Given the description of an element on the screen output the (x, y) to click on. 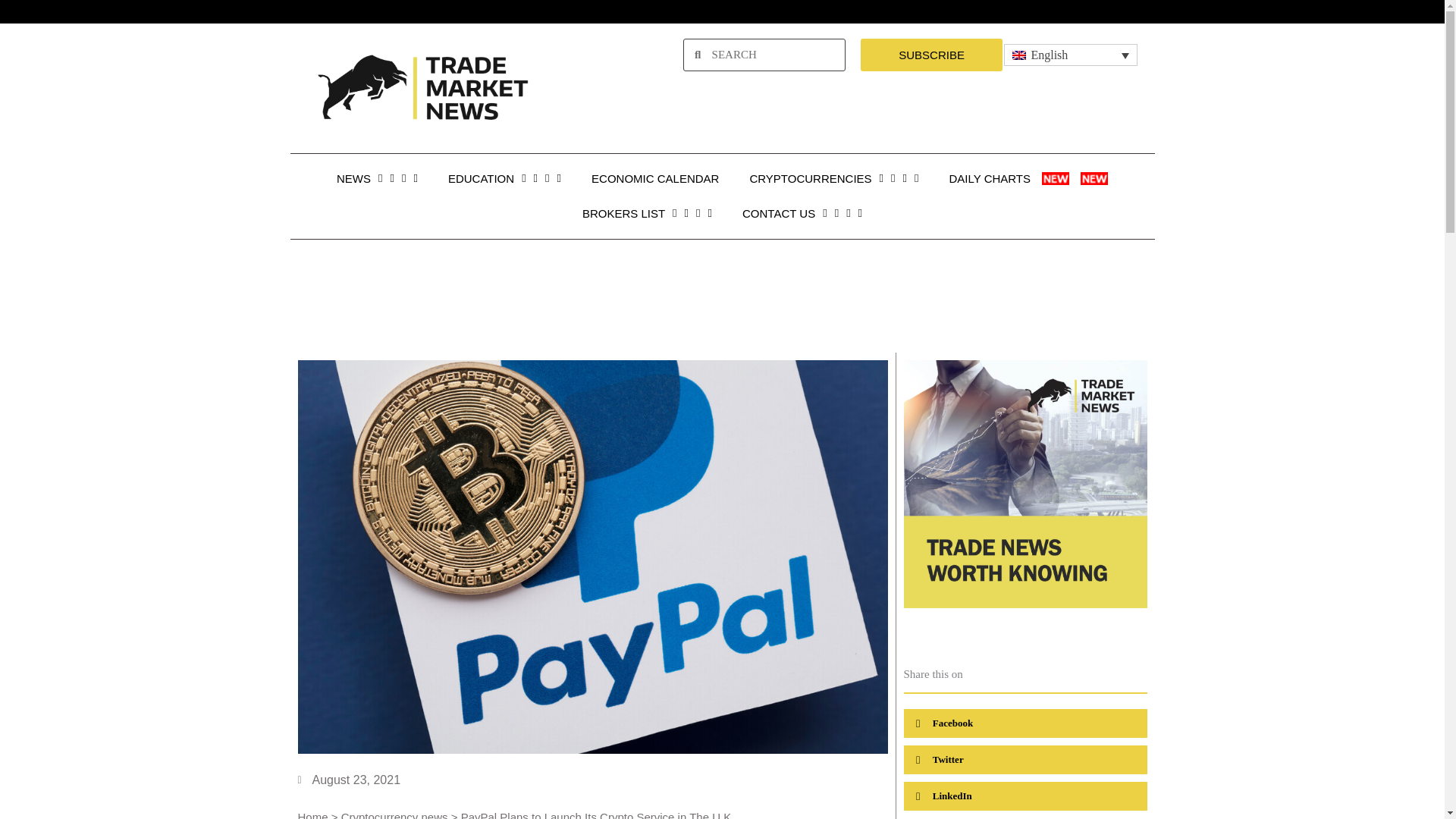
NEWS (376, 178)
DAILY CHARTS (1029, 178)
ECONOMIC CALENDAR (654, 178)
EDUCATION (504, 178)
CONTACT US (801, 213)
Search (772, 54)
CRYPTOCURRENCIES (833, 178)
BROKERS LIST (646, 213)
SUBSCRIBE (931, 54)
English (1070, 55)
